Given the description of an element on the screen output the (x, y) to click on. 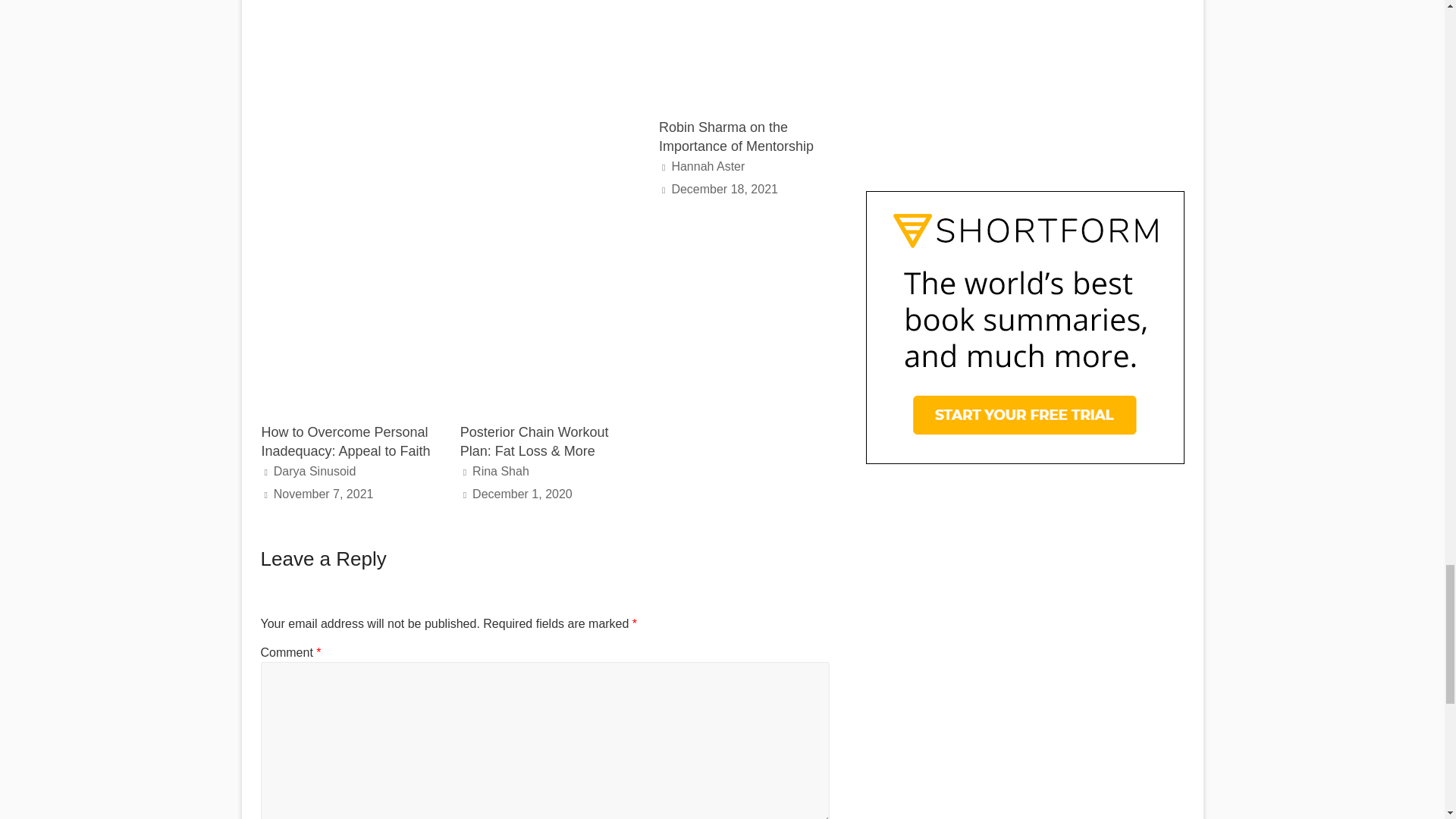
Robin Sharma on the Importance of Mentorship (736, 136)
How to Overcome Personal Inadequacy: Appeal to Faith (344, 441)
Hannah Aster (707, 165)
December 18, 2021 (724, 188)
